Given the description of an element on the screen output the (x, y) to click on. 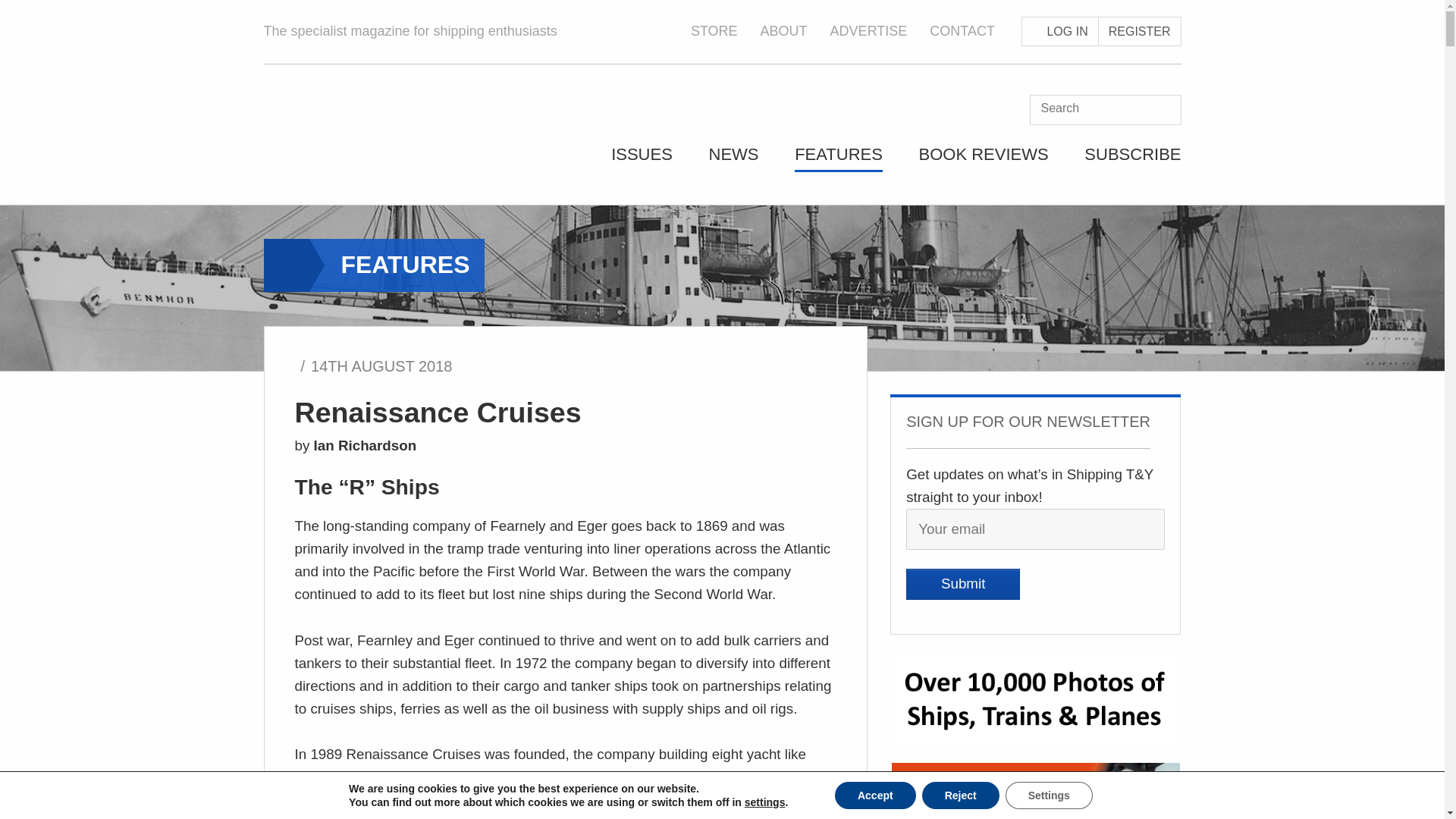
Login (1060, 31)
FEATURES (394, 265)
REGISTER (1139, 31)
NEWS (732, 158)
ABOUT (784, 30)
Ian Richardson (365, 445)
SUBSCRIBE (1132, 158)
BOOK REVIEWS (983, 158)
FEATURES (838, 158)
ADVERTISE (868, 30)
Register (1139, 31)
Home (399, 152)
LOG IN (1060, 31)
Search (1104, 110)
Search (1166, 110)
